Given the description of an element on the screen output the (x, y) to click on. 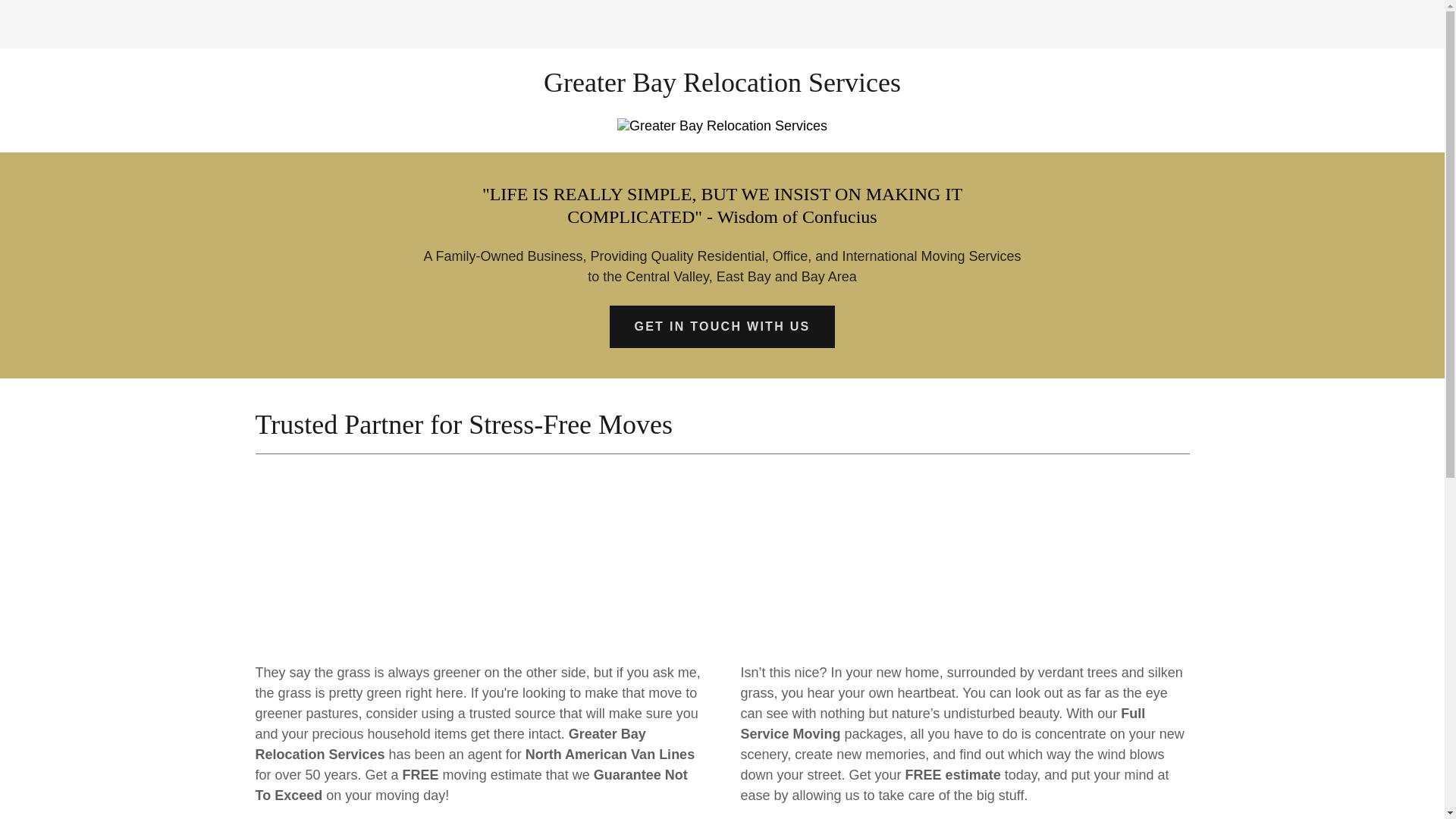
GET IN TOUCH WITH US (722, 326)
Greater Bay Relocation Services (722, 87)
Greater Bay Relocation Services (722, 87)
